Given the description of an element on the screen output the (x, y) to click on. 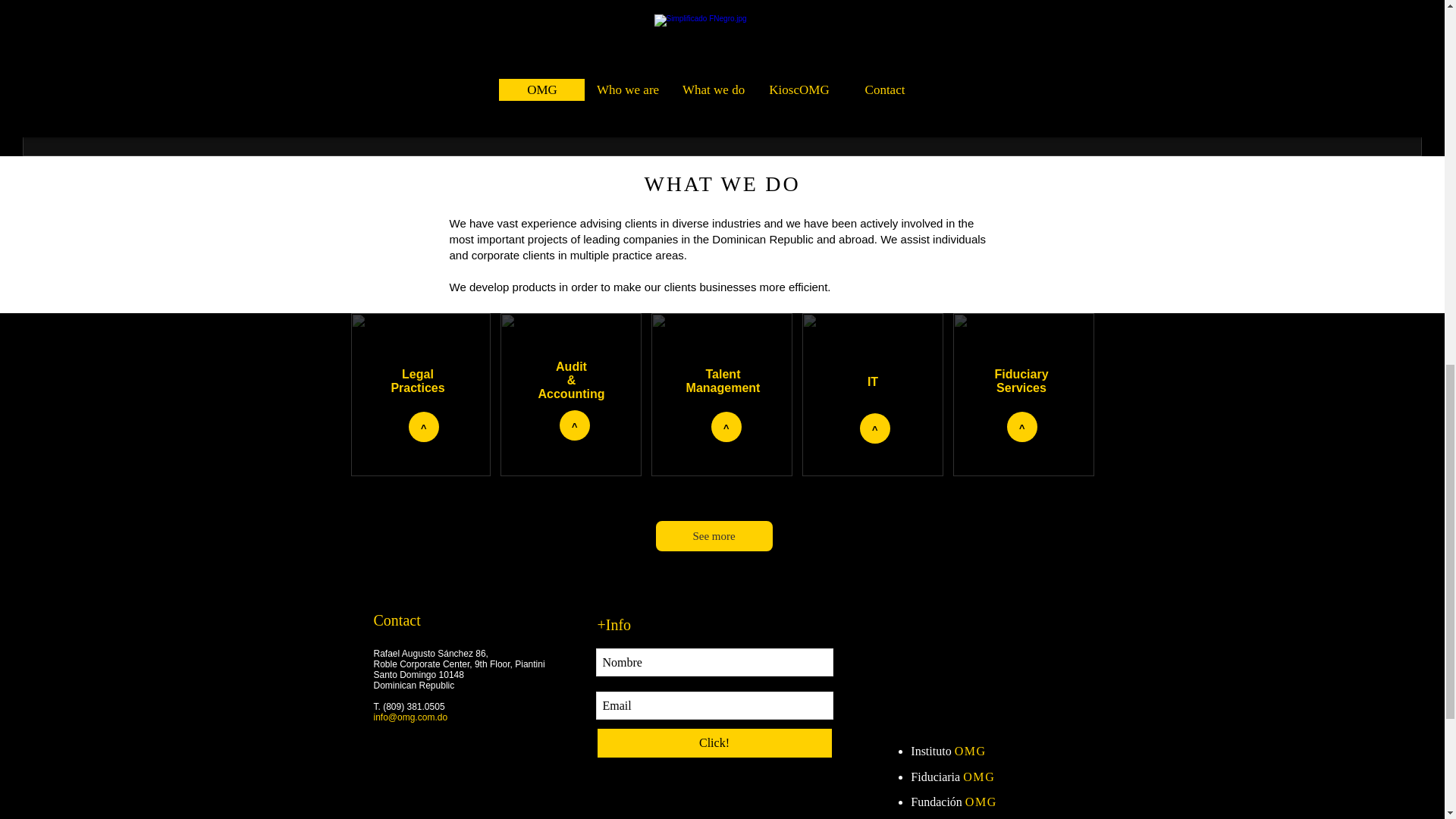
See more (713, 535)
Instituto OMG (948, 750)
Fiduciaria OMG (952, 776)
Click! (713, 743)
